Given the description of an element on the screen output the (x, y) to click on. 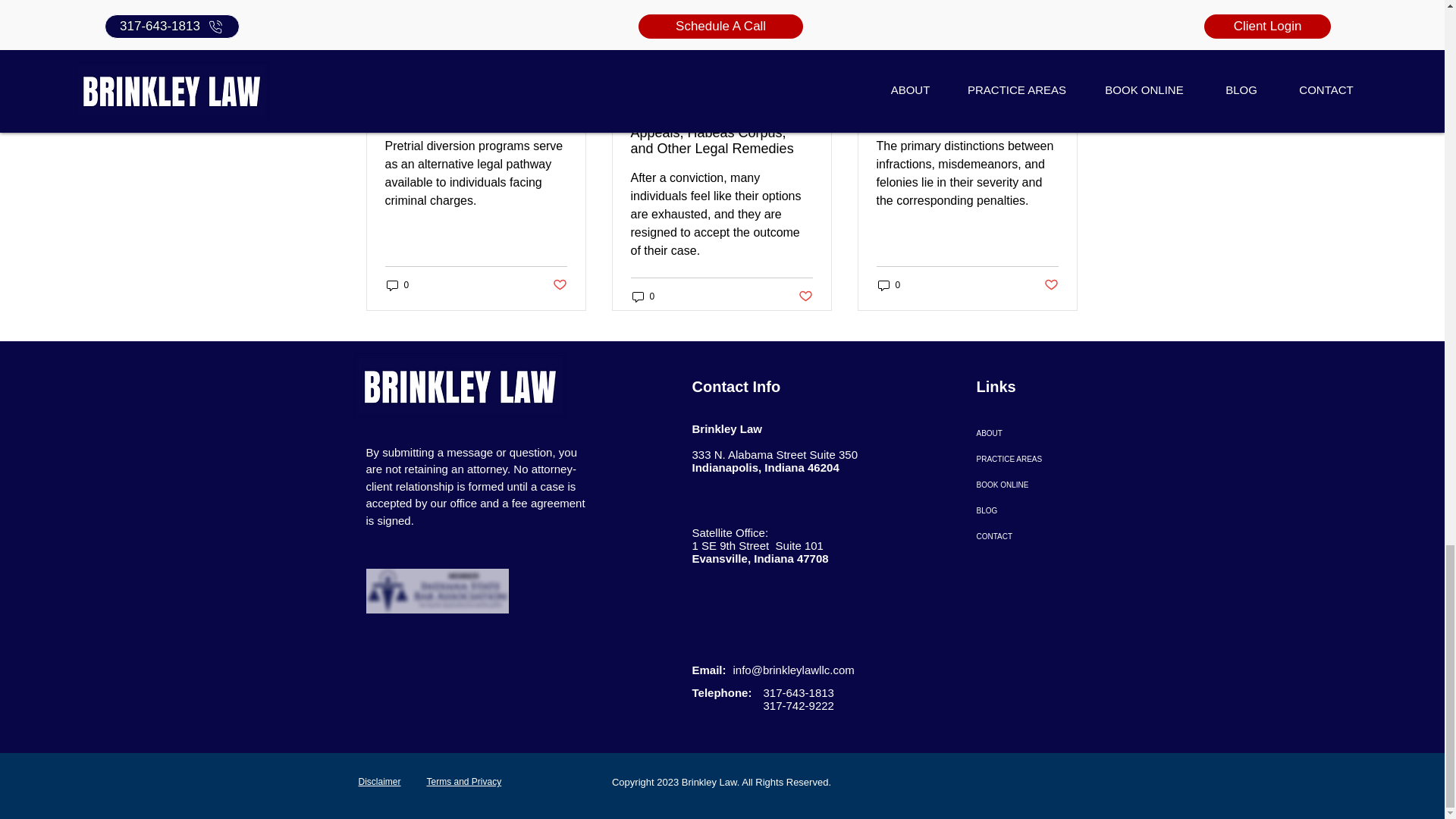
0 (397, 285)
See All (1061, 47)
Post not marked as liked (558, 285)
Understanding Pre-Trial Diversion in Indiana (476, 109)
